Given the description of an element on the screen output the (x, y) to click on. 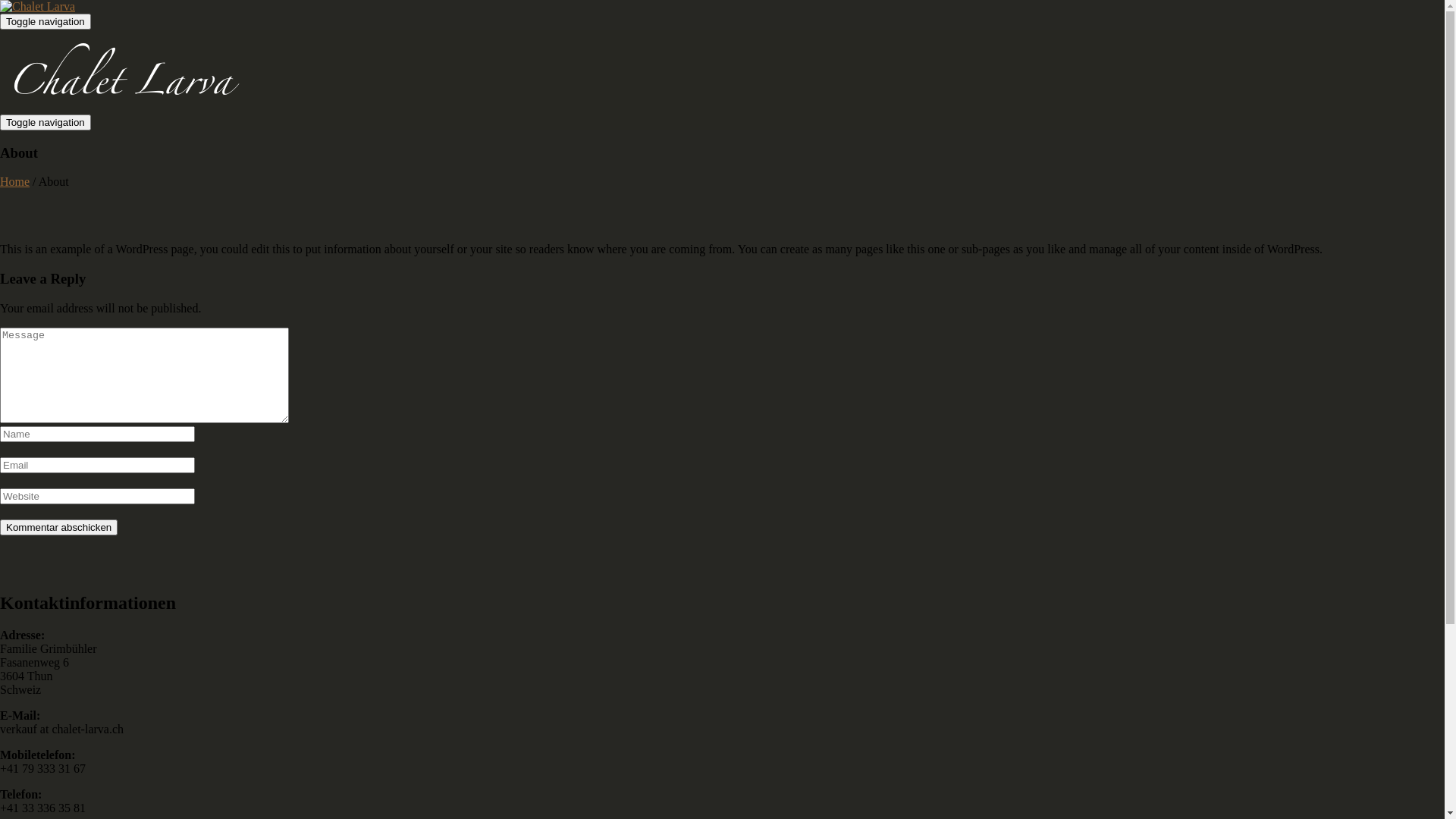
Toggle navigation Element type: text (45, 21)
Kommentar abschicken Element type: text (58, 527)
Home Element type: text (14, 181)
Toggle navigation Element type: text (45, 122)
